Given the description of an element on the screen output the (x, y) to click on. 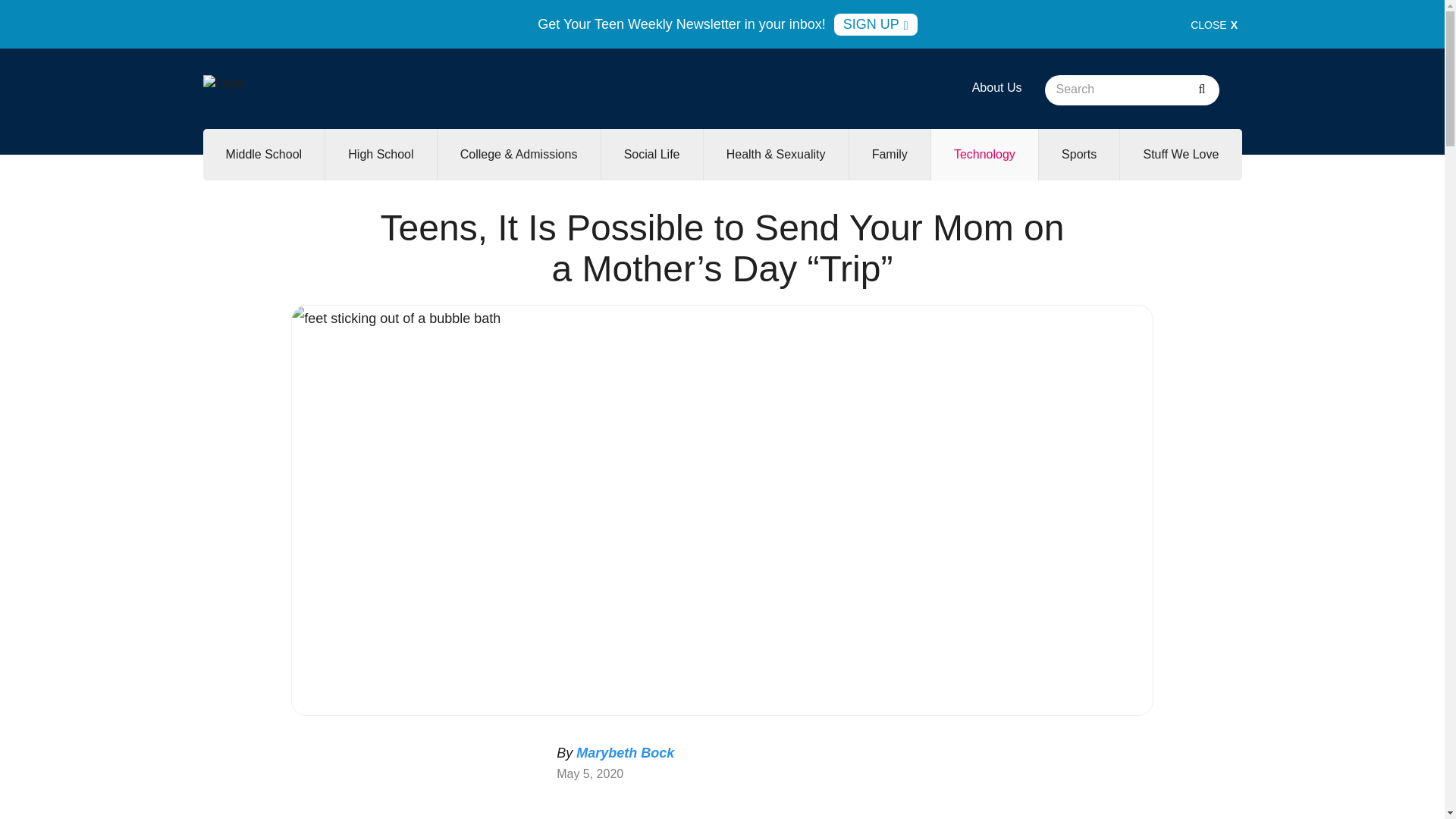
Sports (1079, 154)
About Us (997, 87)
SIGN UP (875, 24)
Family (889, 154)
Stuff We Love (1180, 154)
Middle School (263, 154)
High School (379, 154)
Search (1201, 90)
Social Life (652, 154)
CLOSE (1214, 24)
